Given the description of an element on the screen output the (x, y) to click on. 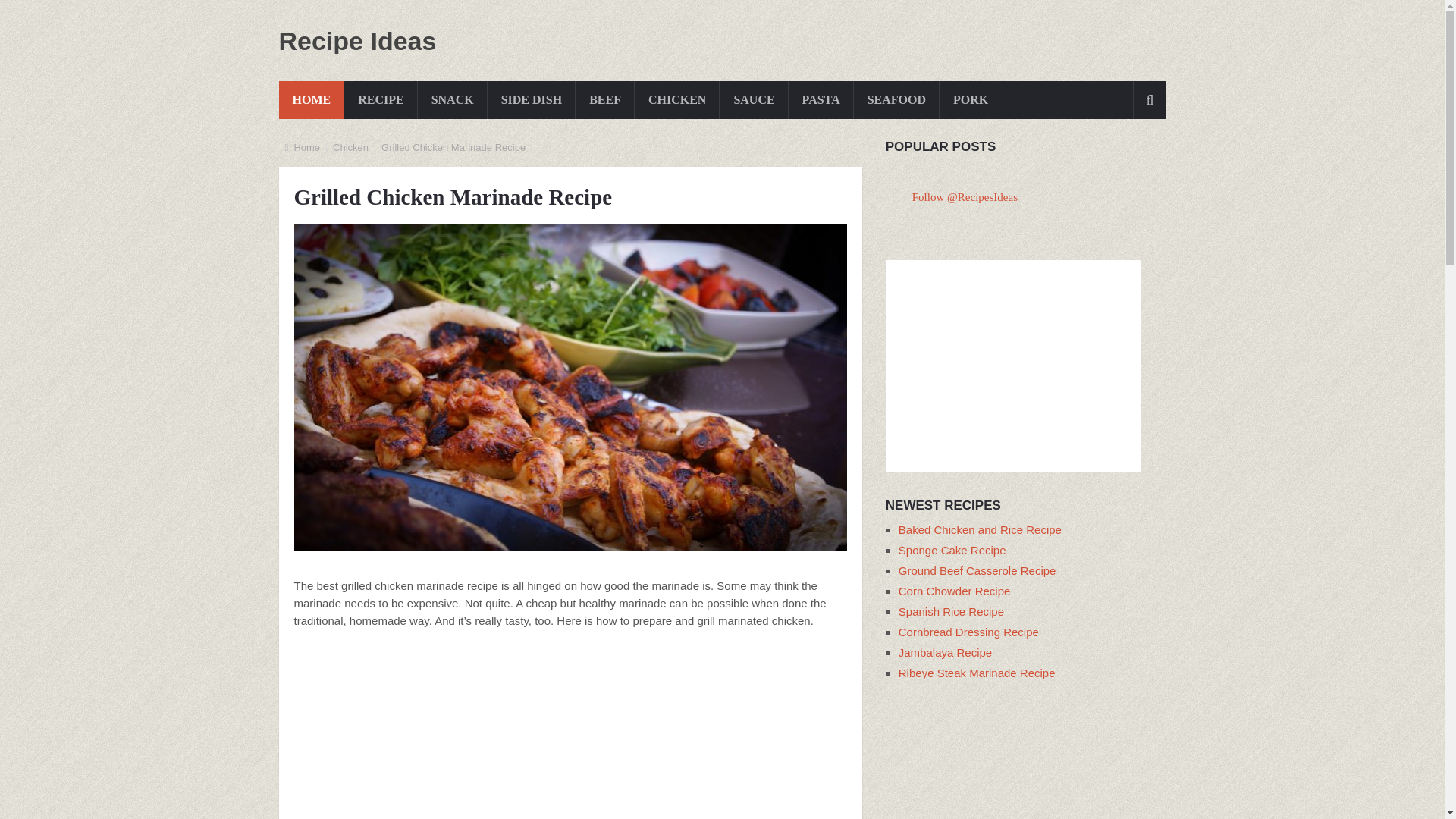
RECIPE (379, 99)
Home (307, 147)
Ribeye Steak Marinade Recipe (976, 672)
Corn Chowder Recipe (954, 590)
Ground Beef Casserole Recipe (977, 570)
BEEF (604, 99)
SEAFOOD (896, 99)
SIDE DISH (531, 99)
SAUCE (753, 99)
Advertisement (569, 731)
